Given the description of an element on the screen output the (x, y) to click on. 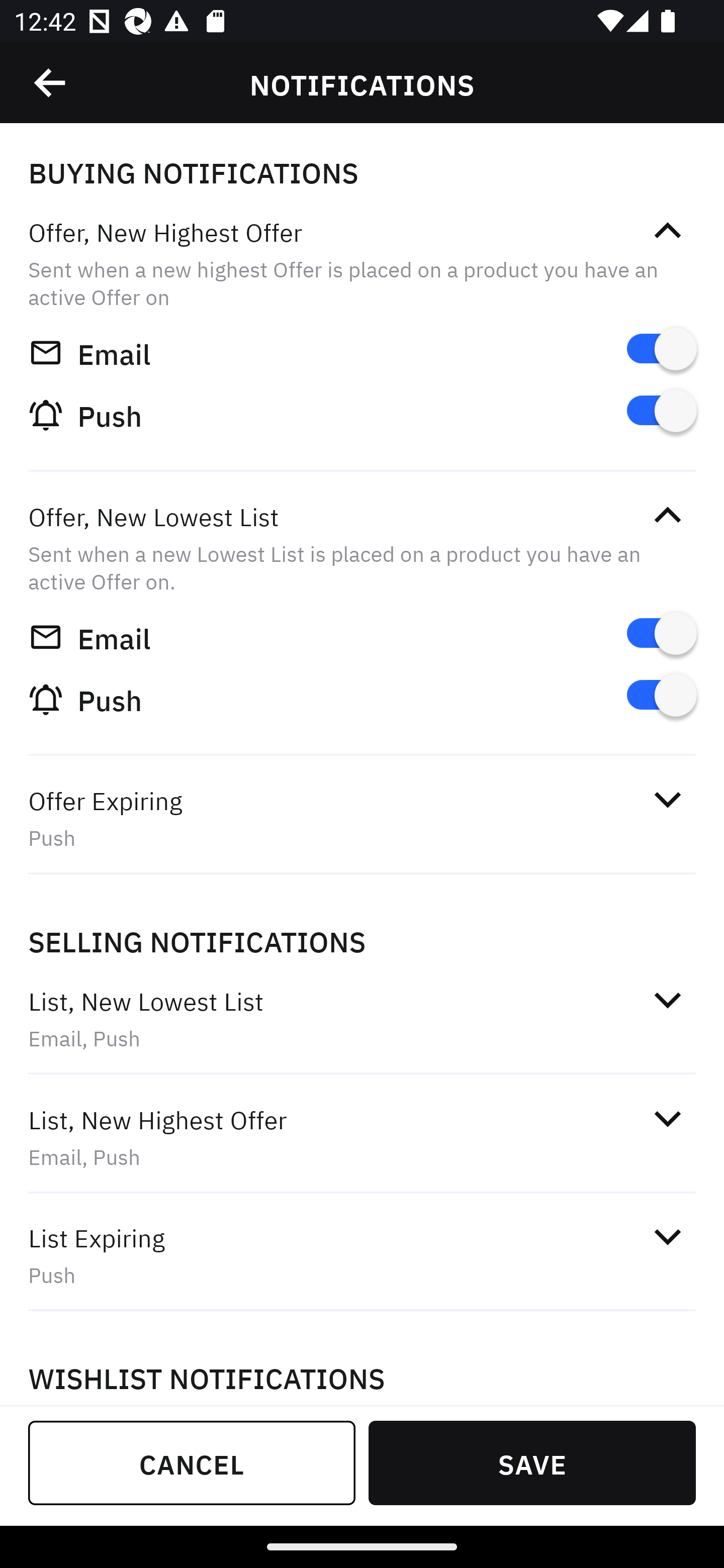
 (50, 83)
 (667, 231)
 (667, 514)
Offer Expiring  Push (361, 818)
 (667, 799)
List, New Lowest List  Email, Push (361, 1018)
 (667, 999)
List, New Highest Offer  Email, Push (361, 1137)
 (667, 1118)
List Expiring  Push (361, 1254)
 (667, 1236)
CANCEL (191, 1462)
SAVE (531, 1462)
